Given the description of an element on the screen output the (x, y) to click on. 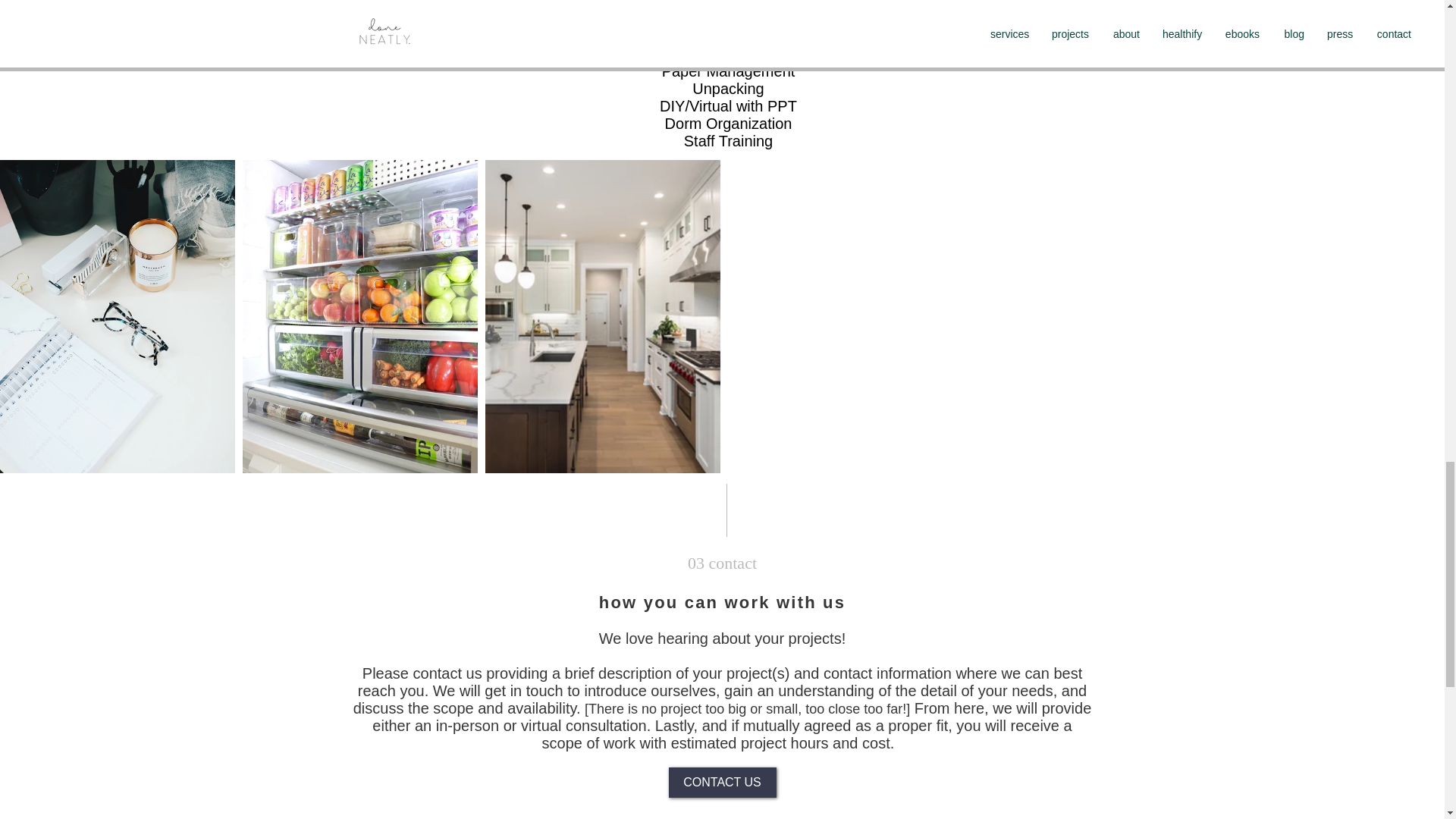
CONTACT US (722, 782)
